Given the description of an element on the screen output the (x, y) to click on. 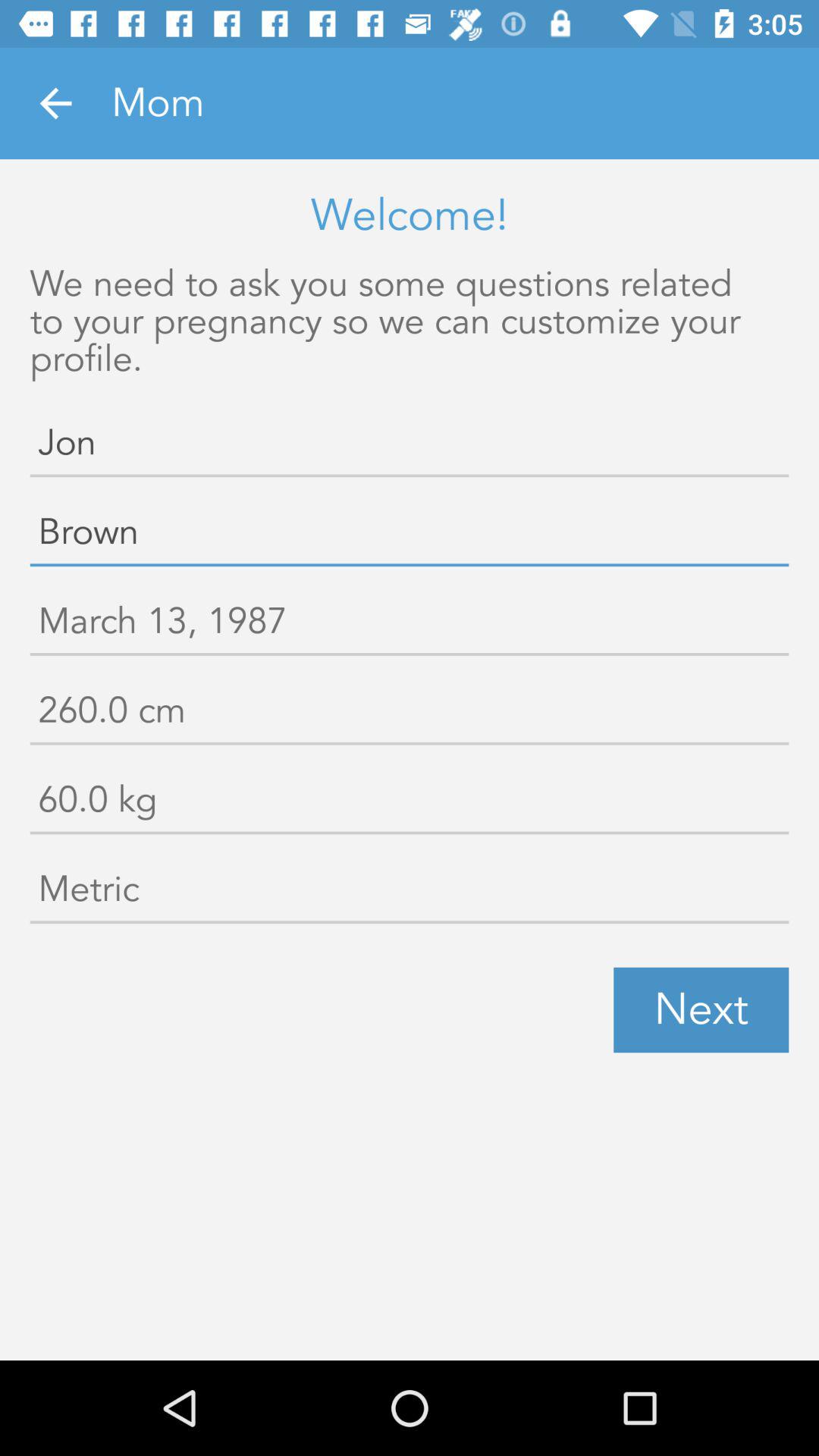
click the icon above brown (409, 445)
